Given the description of an element on the screen output the (x, y) to click on. 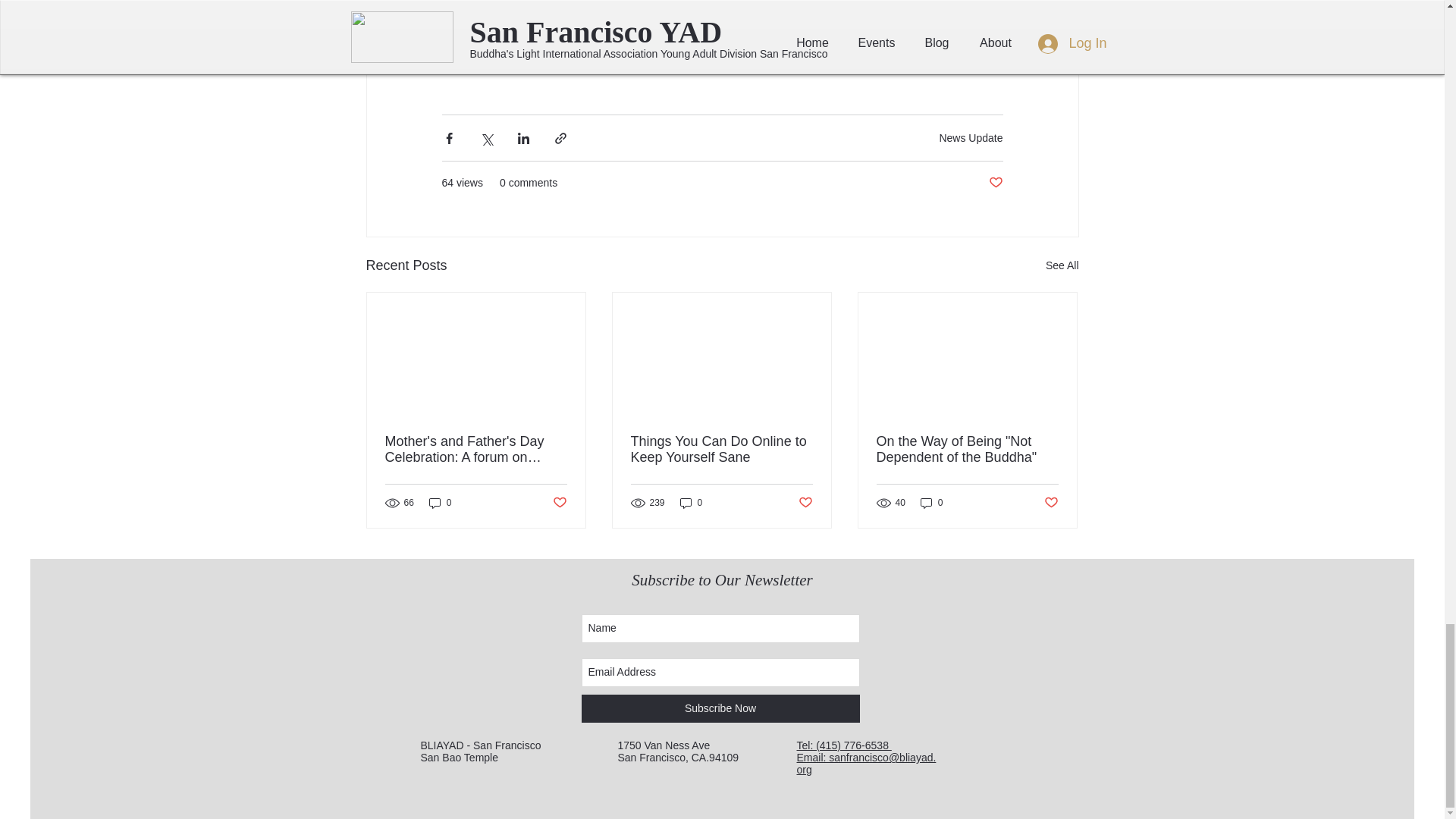
Post not marked as liked (558, 503)
News Update (971, 137)
Things You Can Do Online to Keep Yourself Sane (721, 450)
See All (1061, 265)
0 (691, 502)
0 (440, 502)
Post not marked as liked (804, 503)
Post not marked as liked (995, 182)
On the Way of Being "Not Dependent of the Buddha" (967, 450)
